Given the description of an element on the screen output the (x, y) to click on. 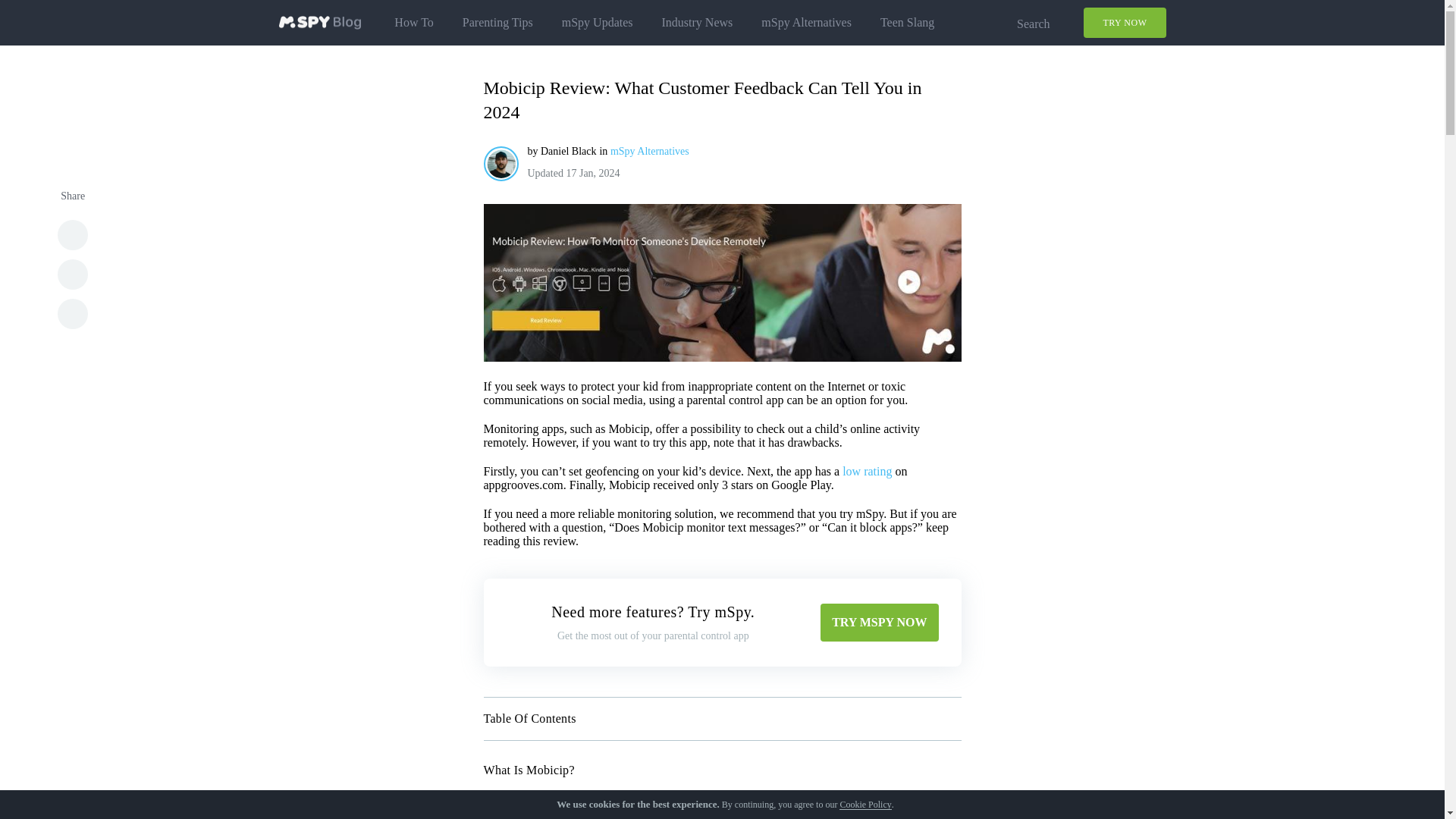
TRY MSPY NOW (879, 622)
Industry News (697, 22)
TRY NOW (1124, 22)
mSpy Updates (597, 22)
Parenting Tips (497, 22)
mSpy Alternatives (649, 151)
low rating (867, 471)
Teen Slang (907, 22)
Share (72, 313)
mSpy Alternatives (806, 22)
